Given the description of an element on the screen output the (x, y) to click on. 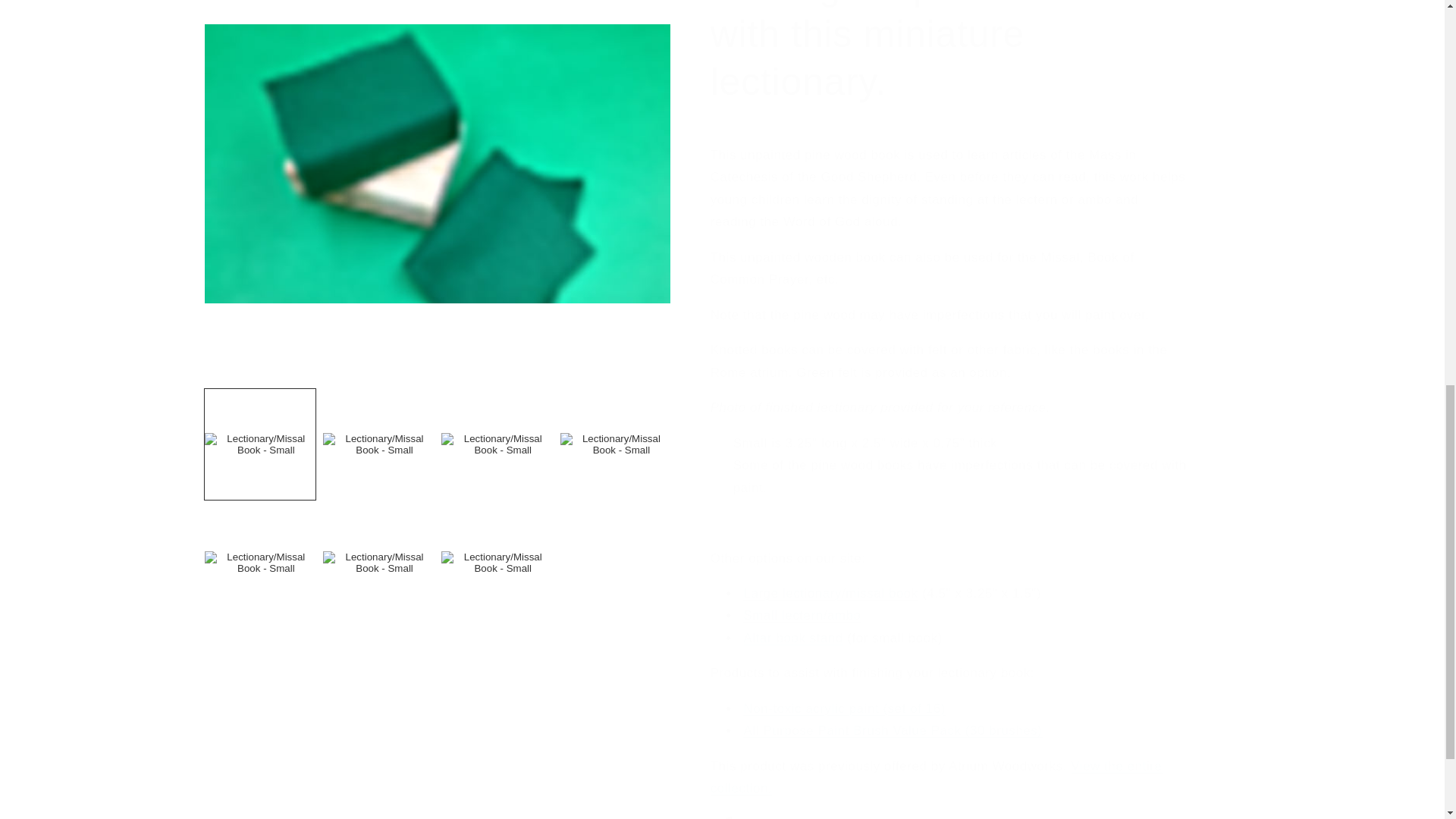
FolkArt Multi Surface Acrylic Paint Set of 16 (844, 696)
Altar Book Stand (793, 626)
Atrium Woodworks Collection (935, 764)
